Given the description of an element on the screen output the (x, y) to click on. 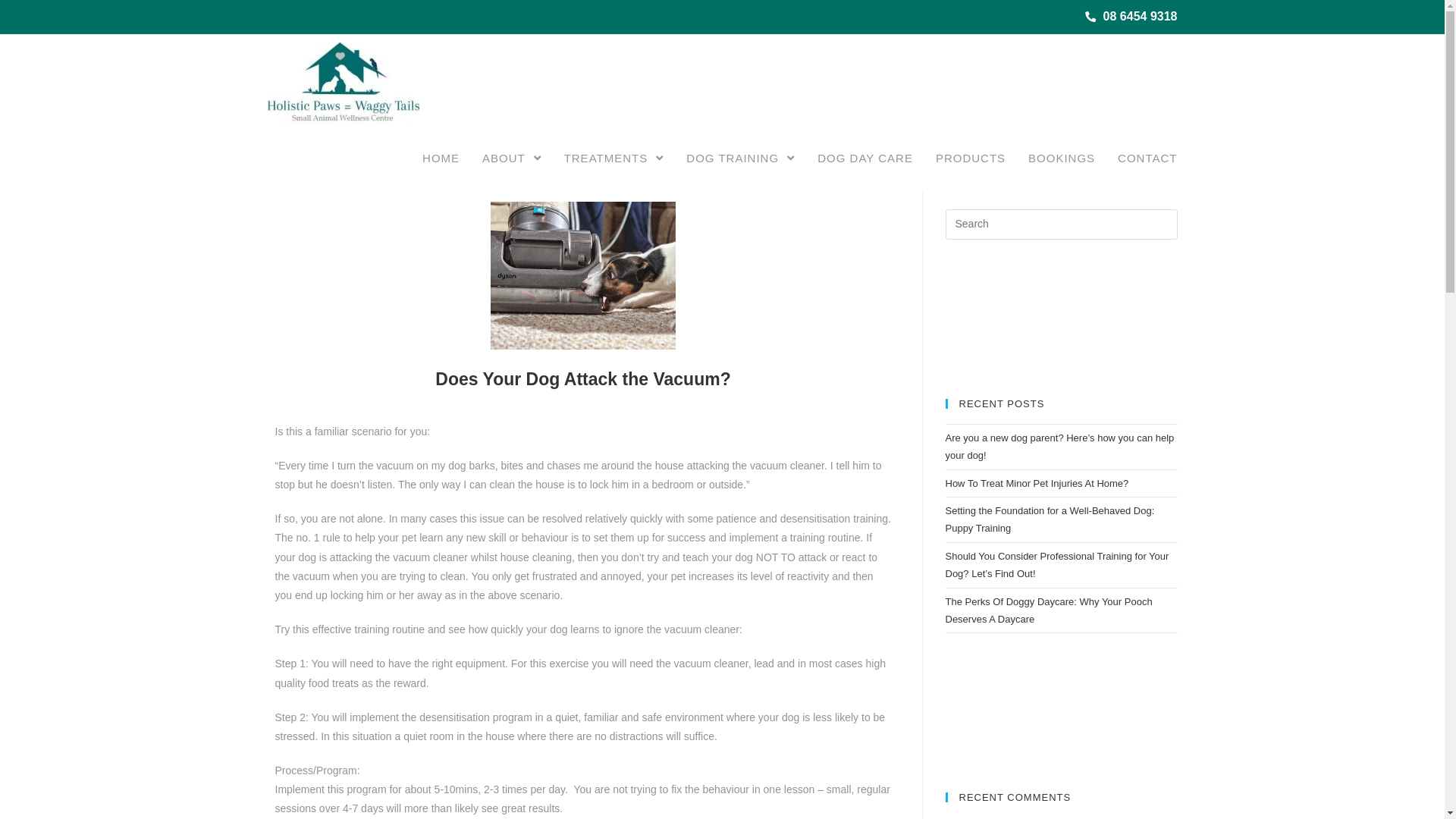
CONTACT Element type: text (1147, 157)
0 Comments Element type: text (534, 148)
TREATMENTS Element type: text (613, 157)
HOME Element type: text (440, 157)
Uncategorized Element type: text (453, 148)
How To Treat Minor Pet Injuries At Home? Element type: text (1036, 483)
PRODUCTS Element type: text (970, 157)
08 6454 9318 Element type: text (1130, 15)
DOG DAY CARE Element type: text (865, 157)
DOG TRAINING Element type: text (740, 157)
BOOKINGS Element type: text (1061, 157)
holpaws01 Element type: text (301, 148)
ABOUT Element type: text (511, 157)
